Given the description of an element on the screen output the (x, y) to click on. 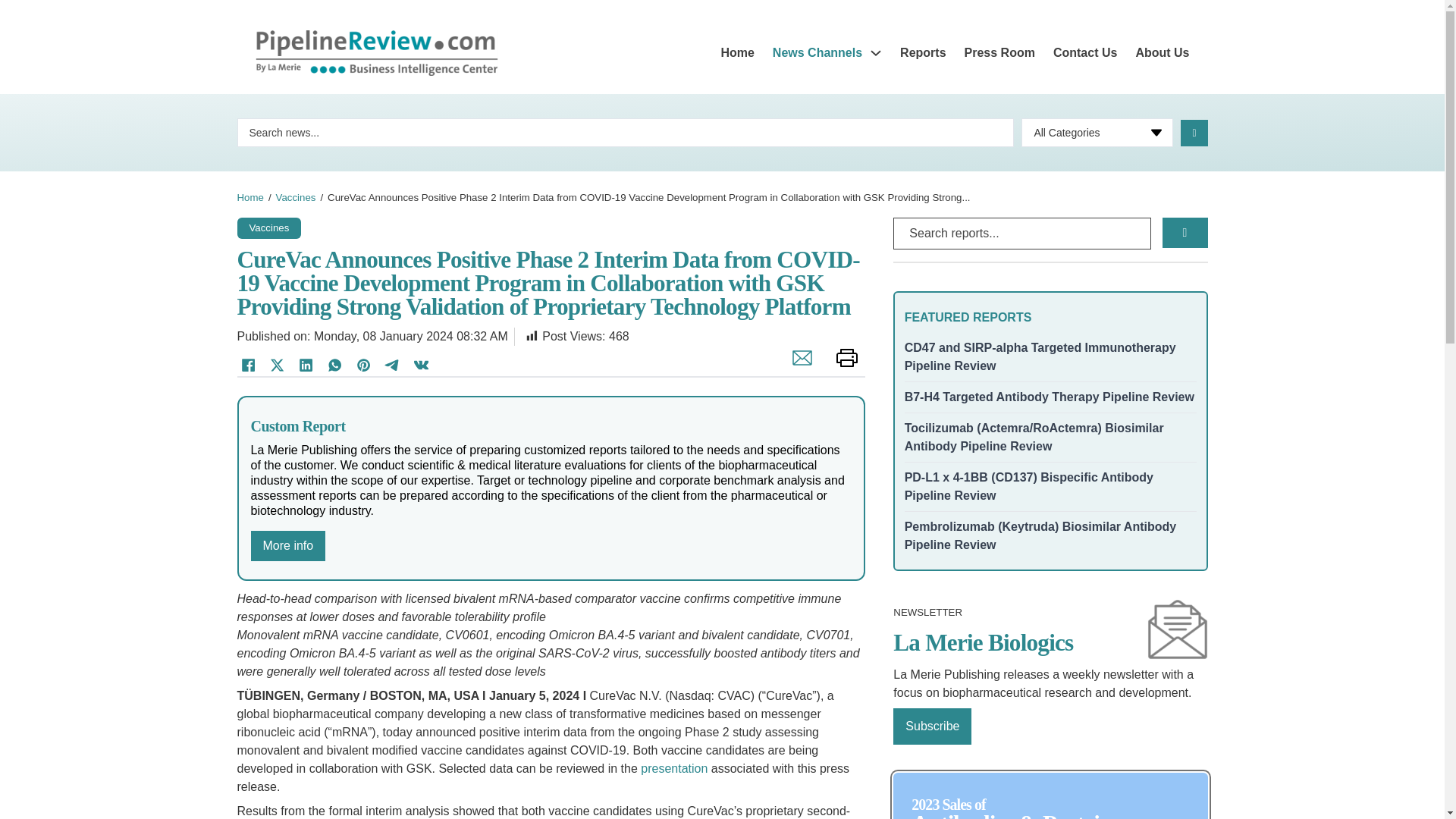
Vaccines (268, 226)
Home (737, 53)
Vaccines (295, 197)
Share by Email (798, 365)
News Channels (817, 53)
Home (249, 197)
presentation (673, 768)
All Categories (1097, 132)
Contact Us (1084, 53)
Share by Email (798, 365)
